Given the description of an element on the screen output the (x, y) to click on. 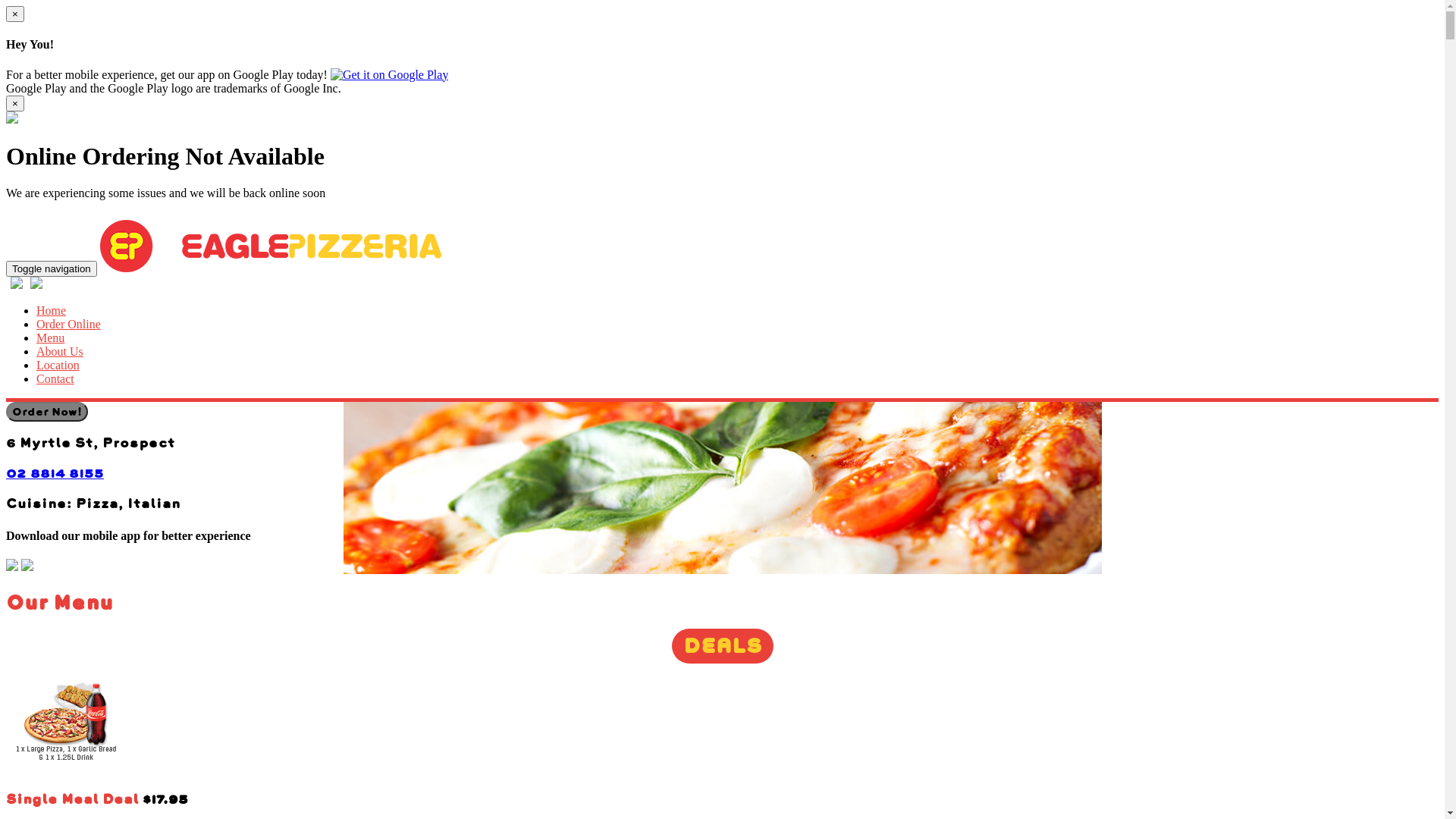
Contact Element type: text (55, 378)
Home Element type: text (50, 310)
Order Now! Element type: text (46, 411)
Location Element type: text (57, 364)
Order Now! Element type: text (46, 410)
02 8814 8155 Element type: text (54, 473)
Toggle navigation Element type: text (51, 268)
About Us Element type: text (59, 351)
Menu Element type: text (50, 337)
Order Online Element type: text (68, 323)
